Given the description of an element on the screen output the (x, y) to click on. 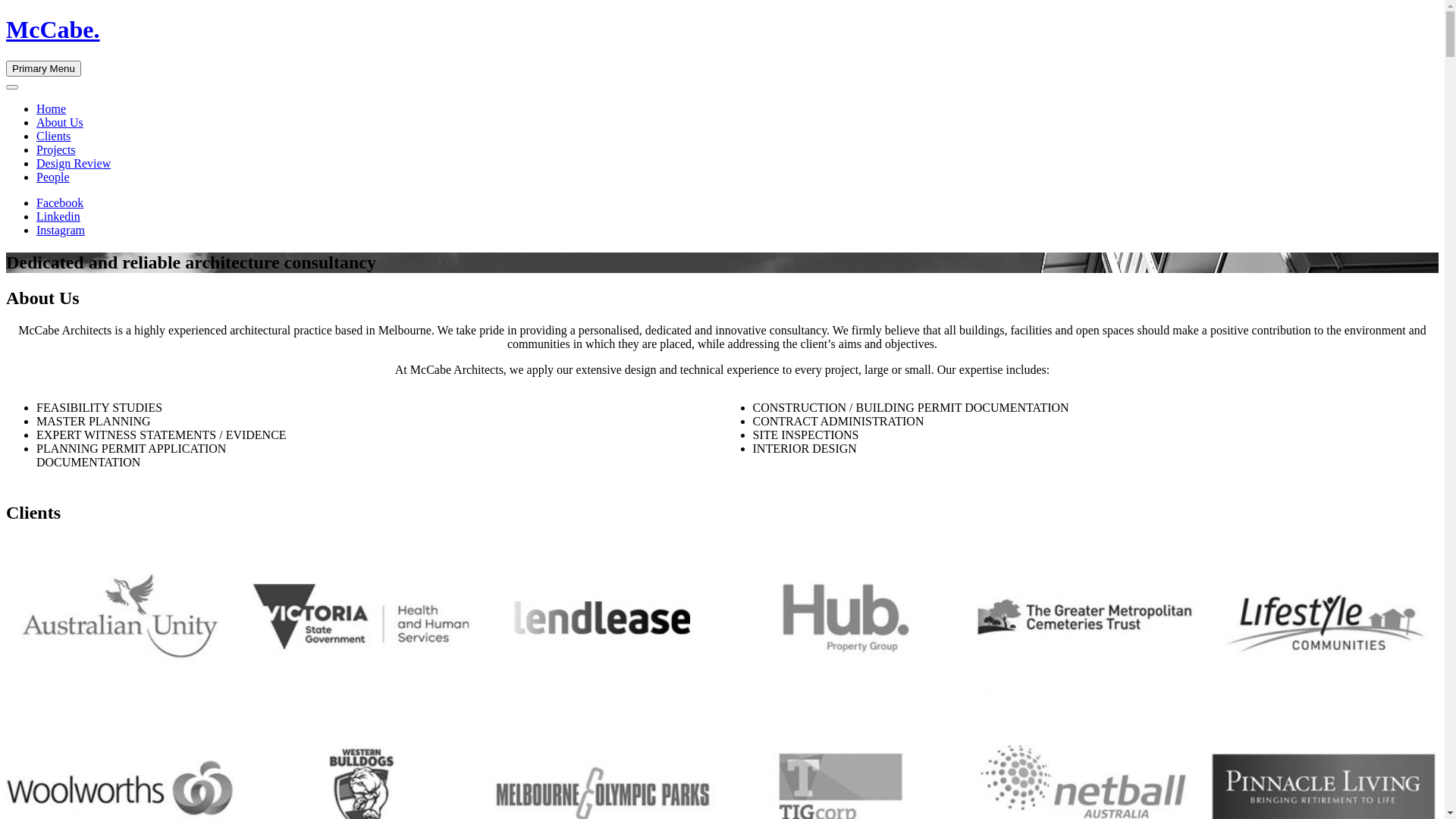
About Us Element type: text (59, 122)
Projects Element type: text (55, 149)
Instagram Element type: text (60, 229)
McCabe. Element type: text (53, 29)
Linkedin Element type: text (58, 216)
Facebook Element type: text (59, 202)
People Element type: text (52, 176)
Primary Menu Element type: text (43, 68)
Skip to content Element type: text (5, 15)
Design Review Element type: text (73, 162)
Clients Element type: text (53, 135)
Home Element type: text (50, 108)
